Given the description of an element on the screen output the (x, y) to click on. 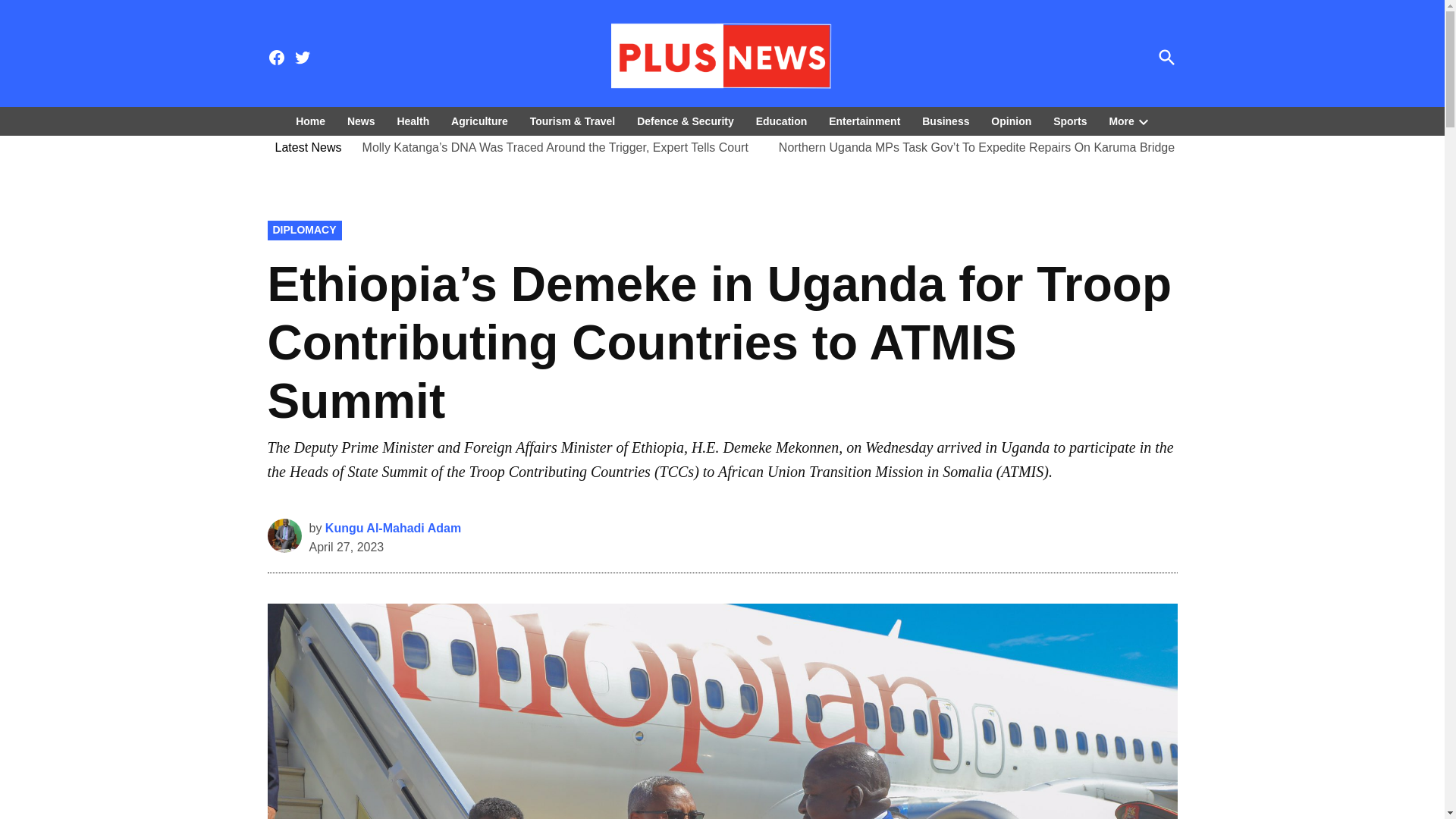
Plus News (1024, 67)
News (360, 120)
Home (314, 120)
